Given the description of an element on the screen output the (x, y) to click on. 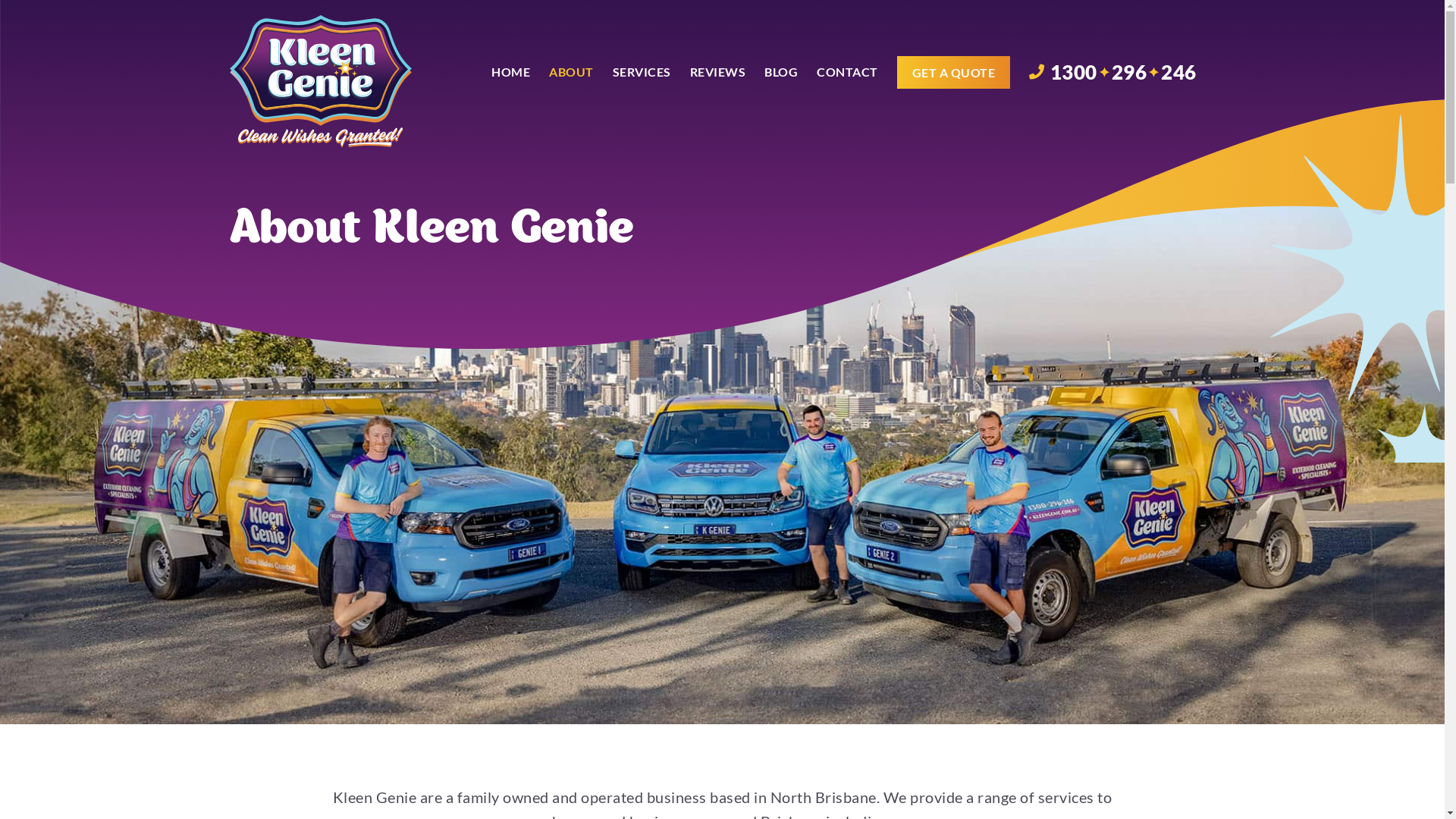
1300
296
246 Element type: text (1112, 71)
GET A QUOTE Element type: text (953, 71)
HOME Element type: text (510, 71)
BLOG Element type: text (780, 71)
SERVICES Element type: text (641, 71)
CONTACT Element type: text (847, 71)
REVIEWS Element type: text (718, 71)
ABOUT Element type: text (571, 71)
